Given the description of an element on the screen output the (x, y) to click on. 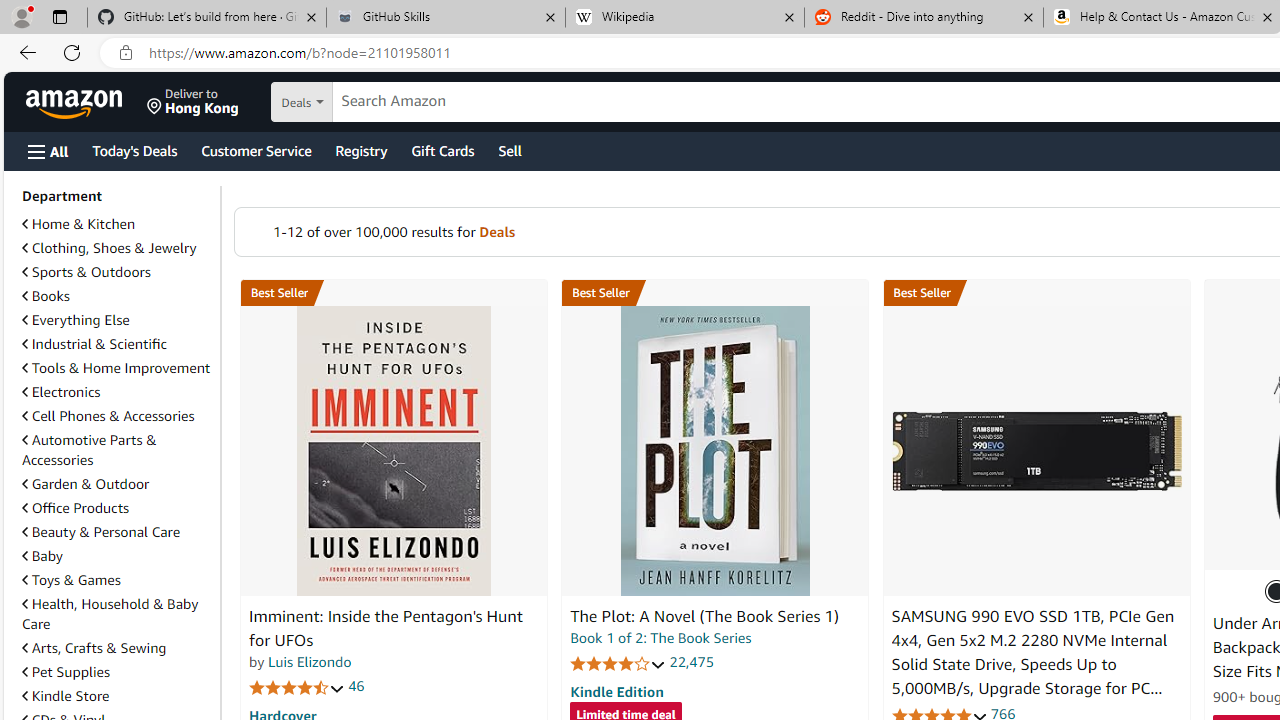
Health, Household & Baby Care (117, 614)
Office Products (75, 507)
Home & Kitchen (78, 224)
Cell Phones & Accessories (117, 416)
GitHub Skills (445, 17)
Customer Service (256, 150)
Everything Else (117, 319)
Garden & Outdoor (85, 484)
Garden & Outdoor (117, 483)
Electronics (117, 391)
Books (117, 295)
Clothing, Shoes & Jewelry (109, 248)
